Given the description of an element on the screen output the (x, y) to click on. 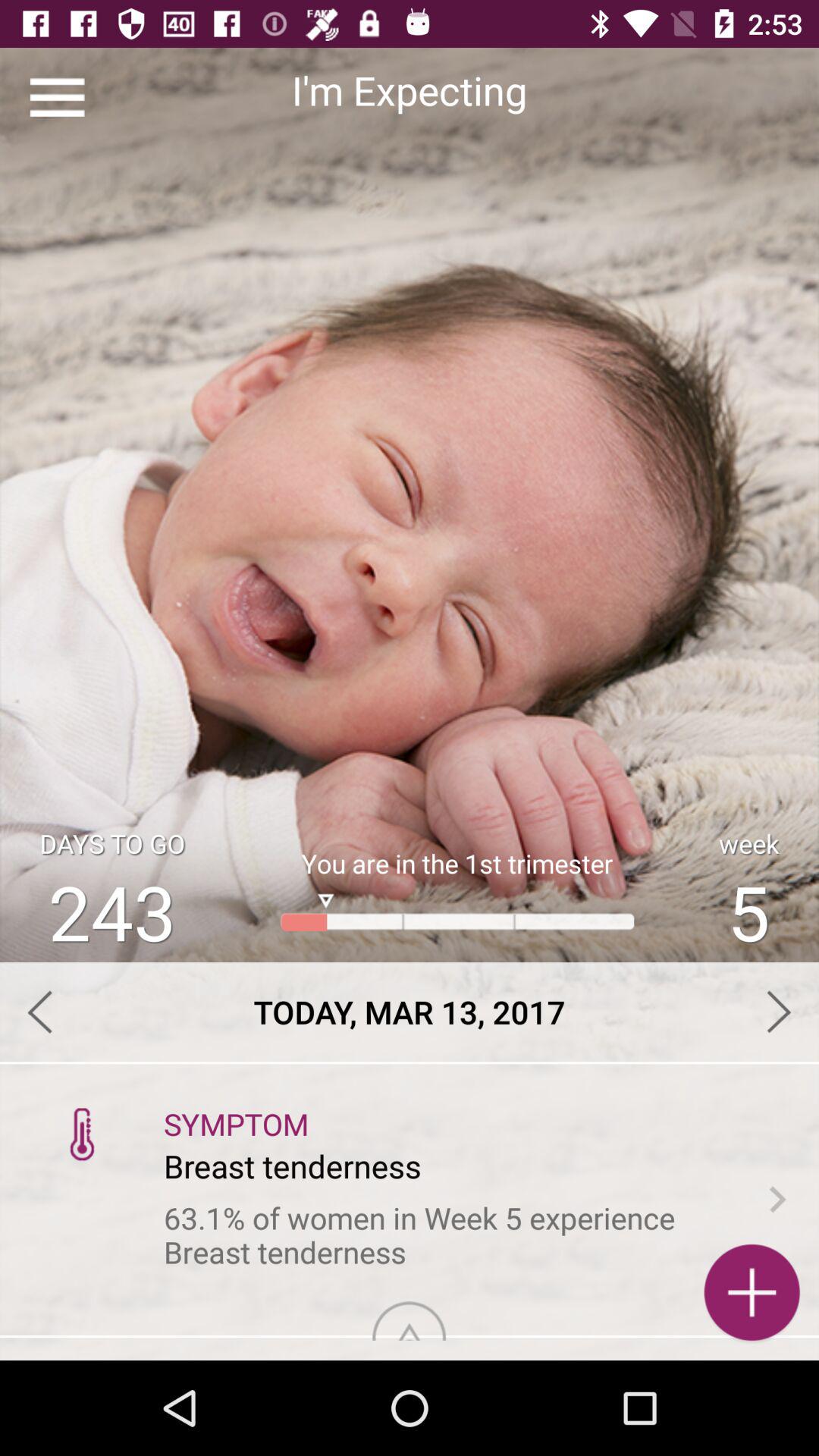
open the item at the top left corner (57, 96)
